Given the description of an element on the screen output the (x, y) to click on. 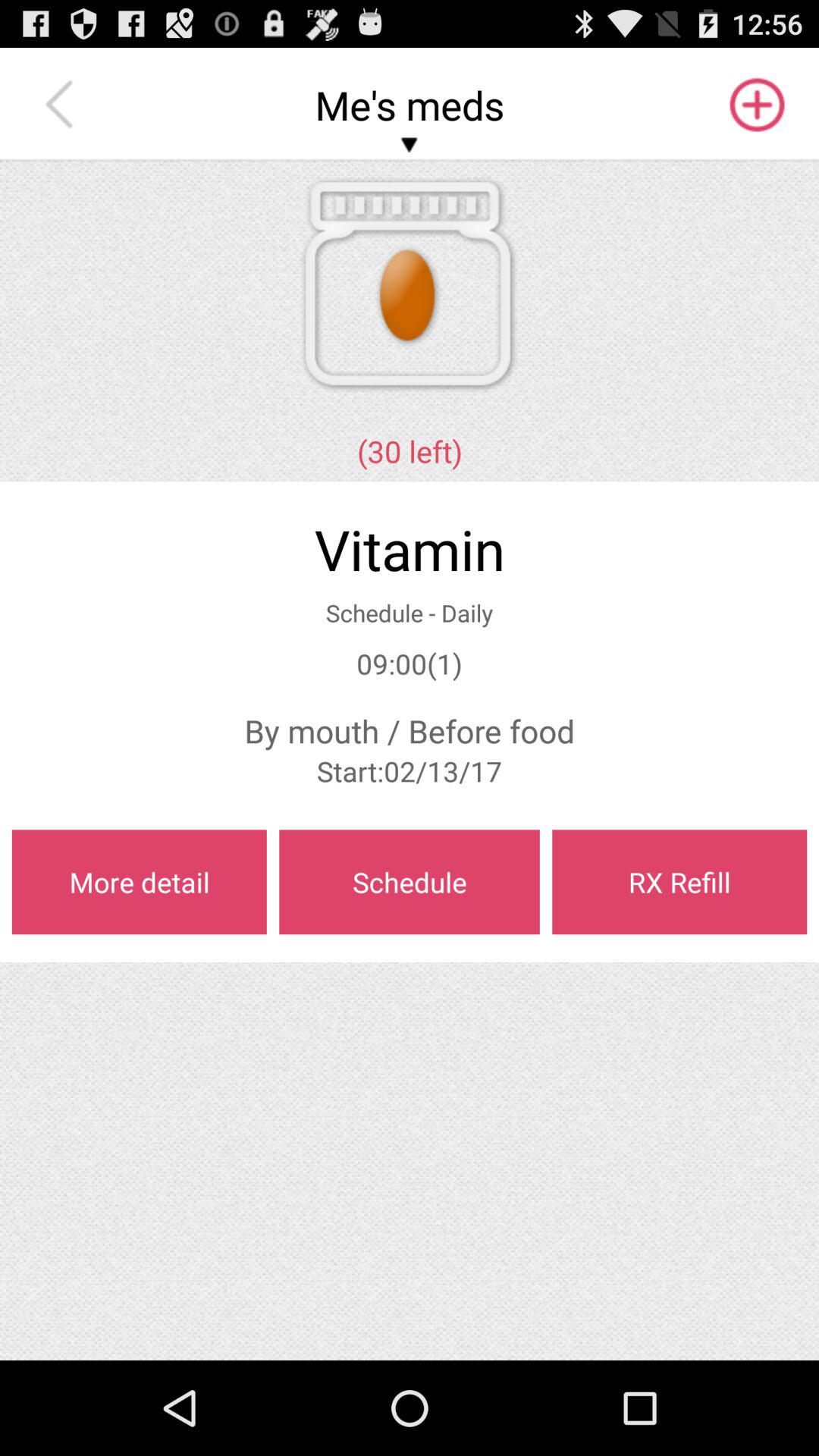
select the more detail on the left (138, 881)
